Given the description of an element on the screen output the (x, y) to click on. 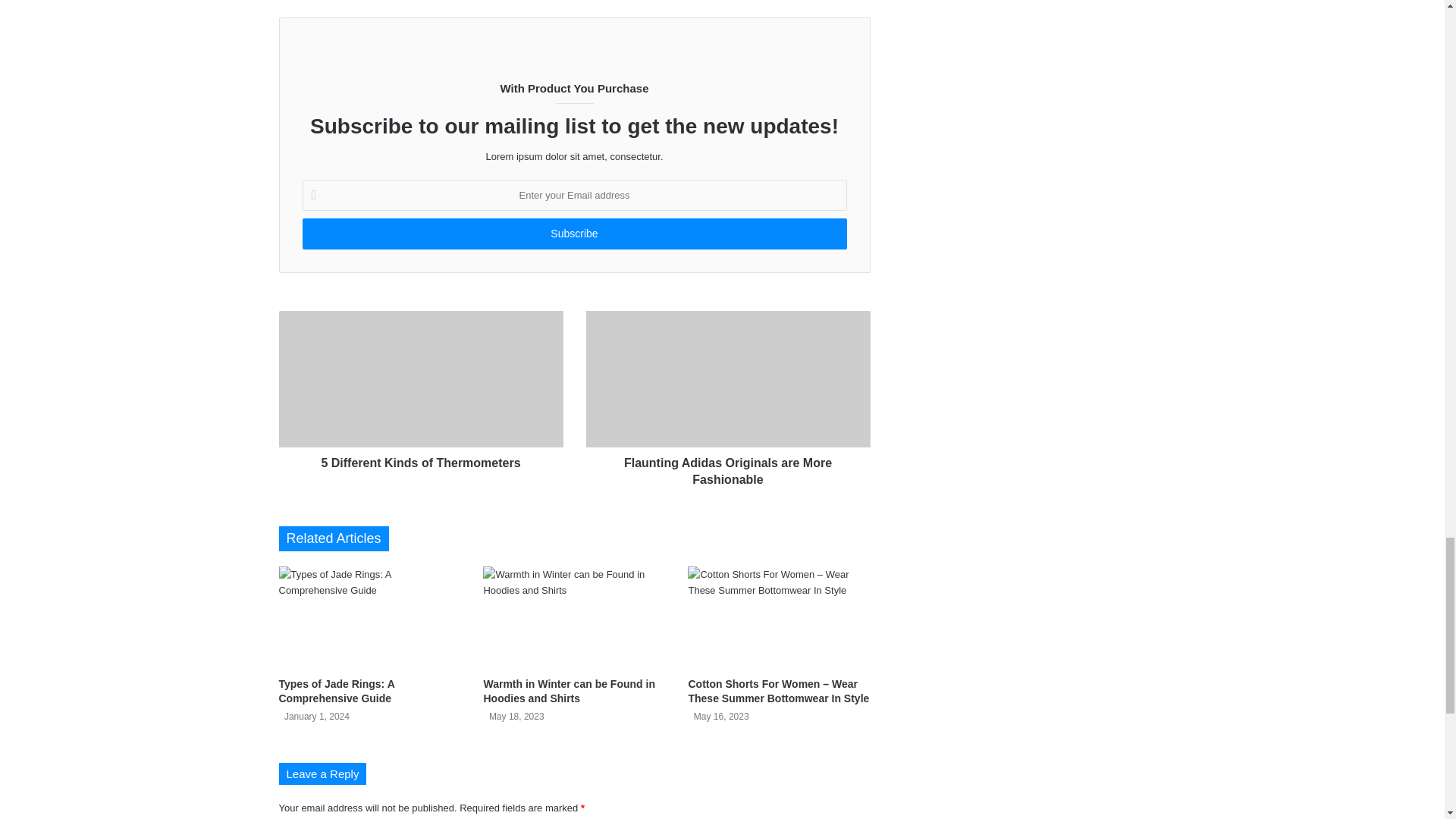
Subscribe (573, 233)
